Given the description of an element on the screen output the (x, y) to click on. 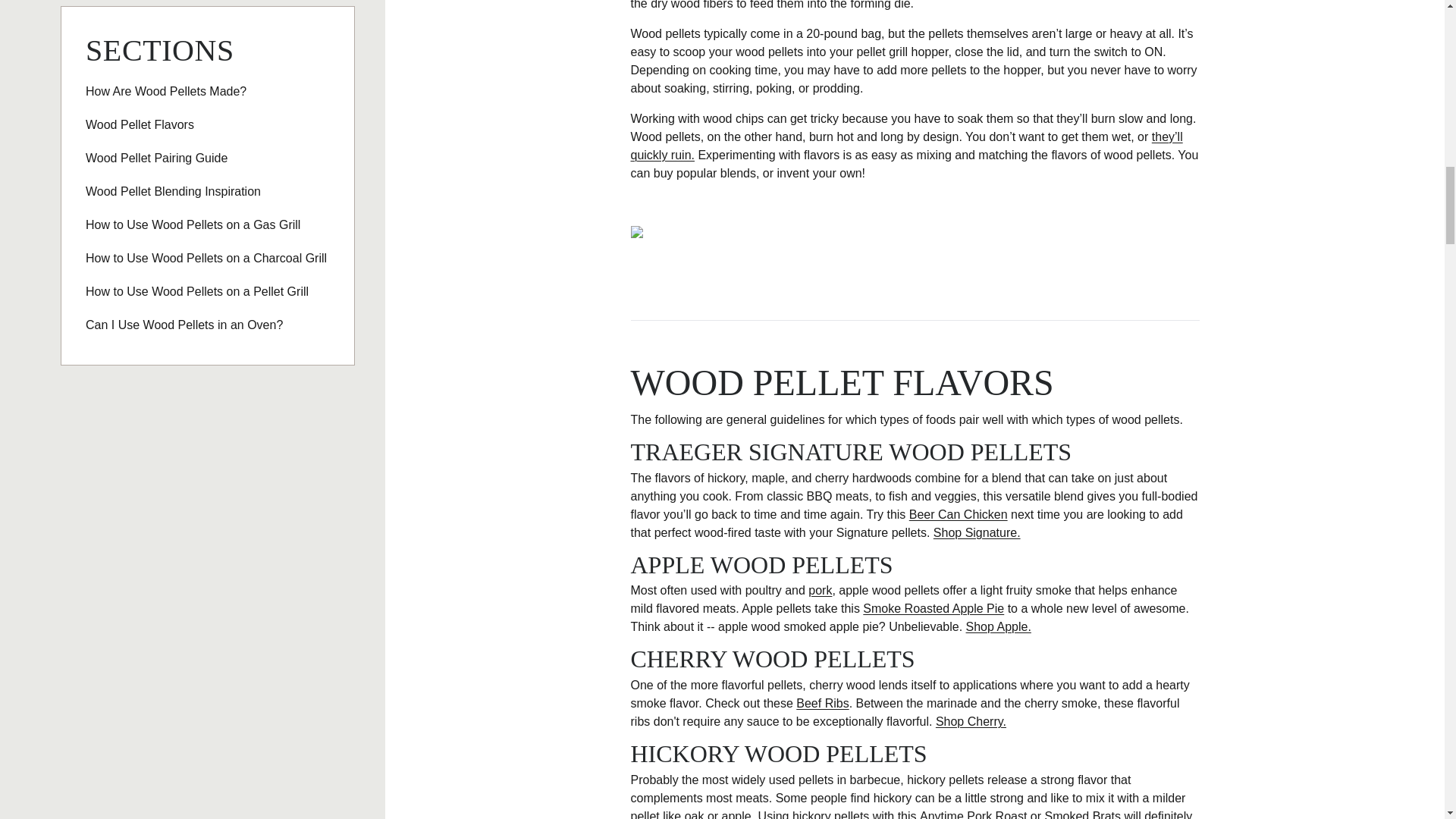
Opens in a new tab (976, 532)
Opens in a new tab (971, 721)
Opens in a new tab (933, 608)
Opens in a new tab (822, 703)
Opens in a new tab (906, 145)
Opens in a new tab (1083, 814)
Opens in a new tab (957, 513)
Opens in a new tab (998, 626)
Opens in a new tab (973, 814)
Opens in a new tab (819, 590)
